Given the description of an element on the screen output the (x, y) to click on. 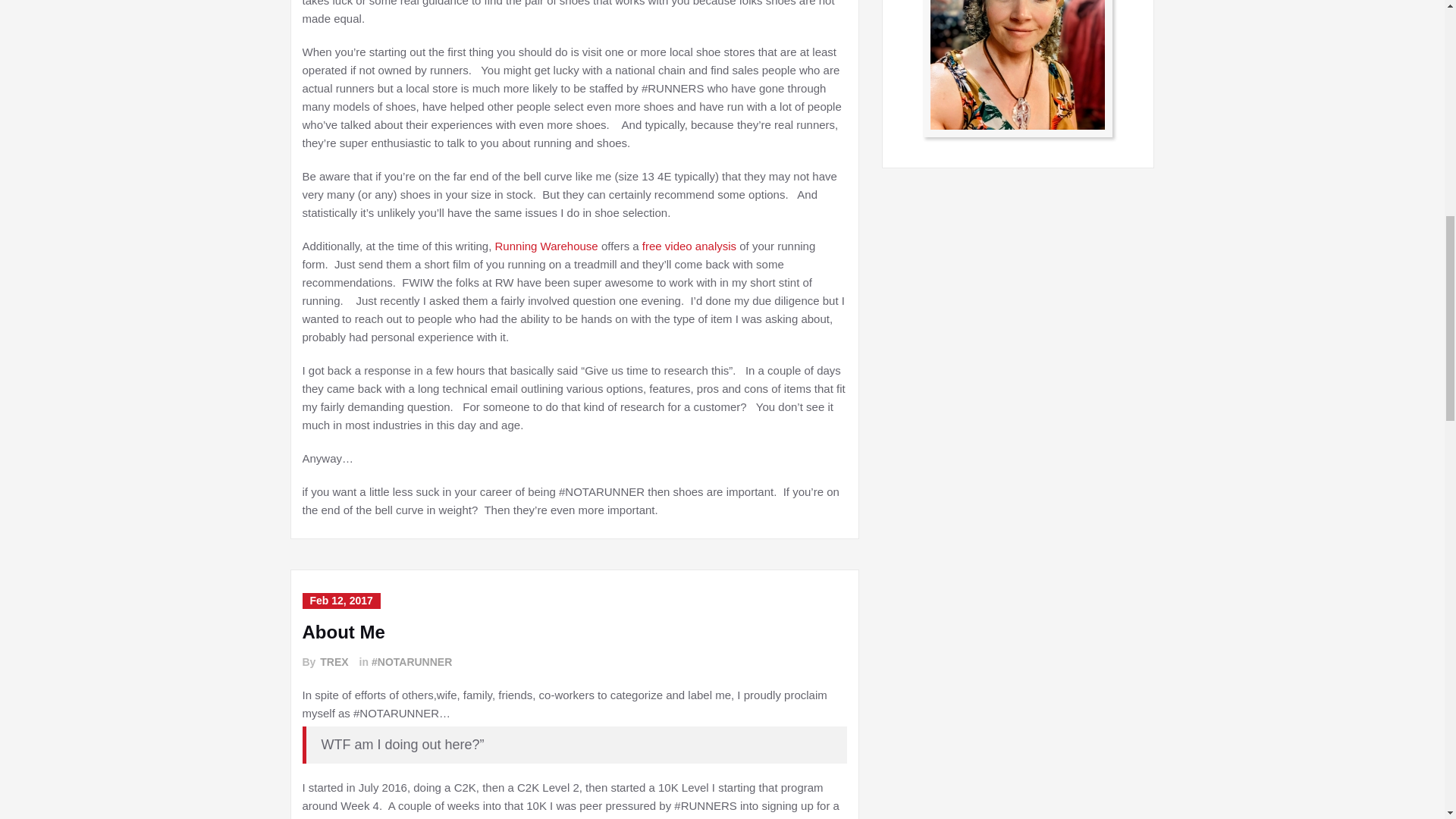
free video analysis (689, 245)
TREX (332, 662)
Feb 12, 2017 (340, 600)
About Me (342, 631)
Running Warehouse (546, 245)
